Given the description of an element on the screen output the (x, y) to click on. 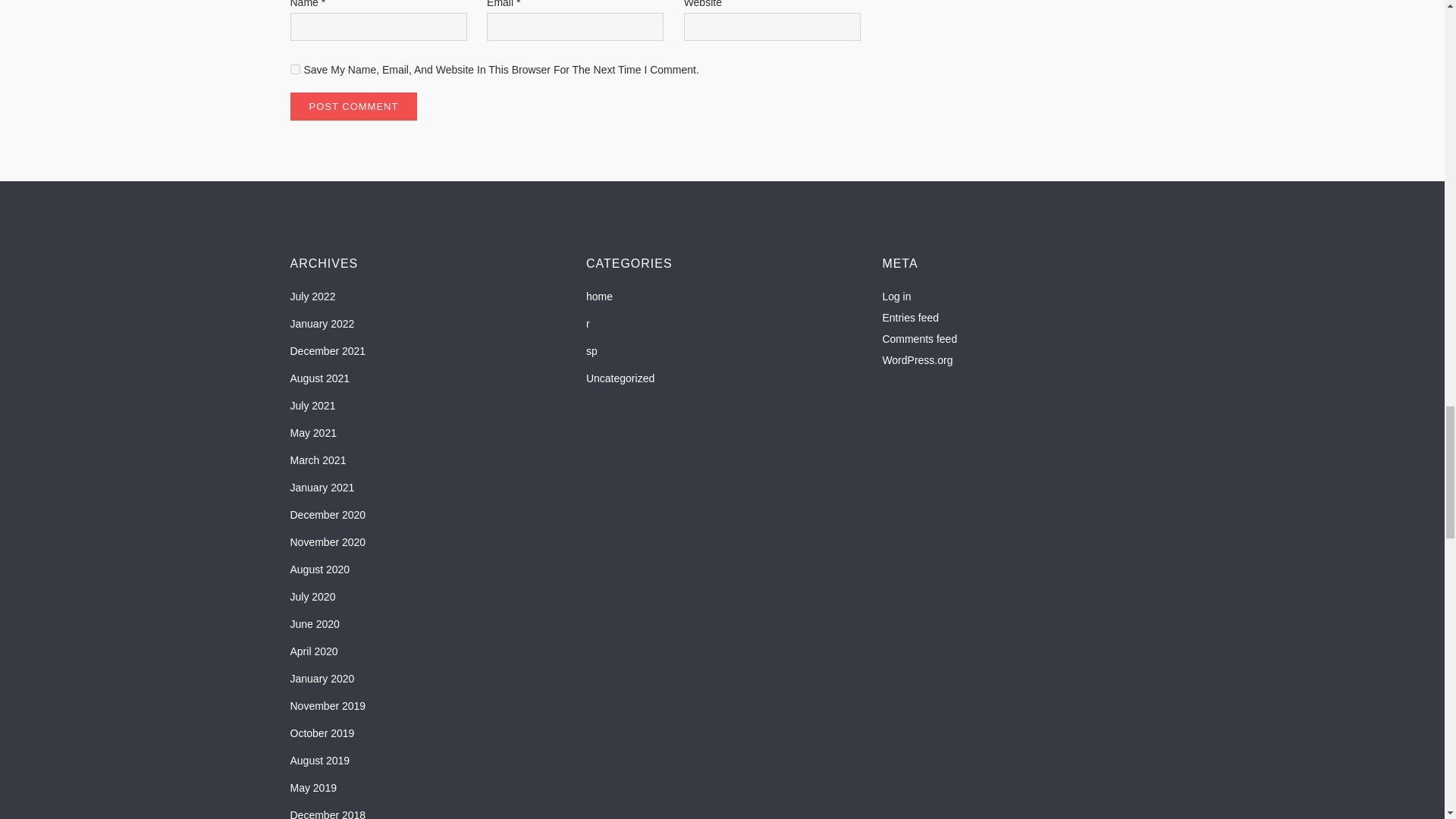
January 2021 (321, 486)
July 2022 (311, 296)
July 2021 (311, 405)
May 2021 (312, 432)
January 2020 (321, 678)
December 2021 (327, 350)
May 2019 (312, 787)
January 2022 (321, 323)
November 2019 (327, 705)
August 2020 (319, 568)
